Given the description of an element on the screen output the (x, y) to click on. 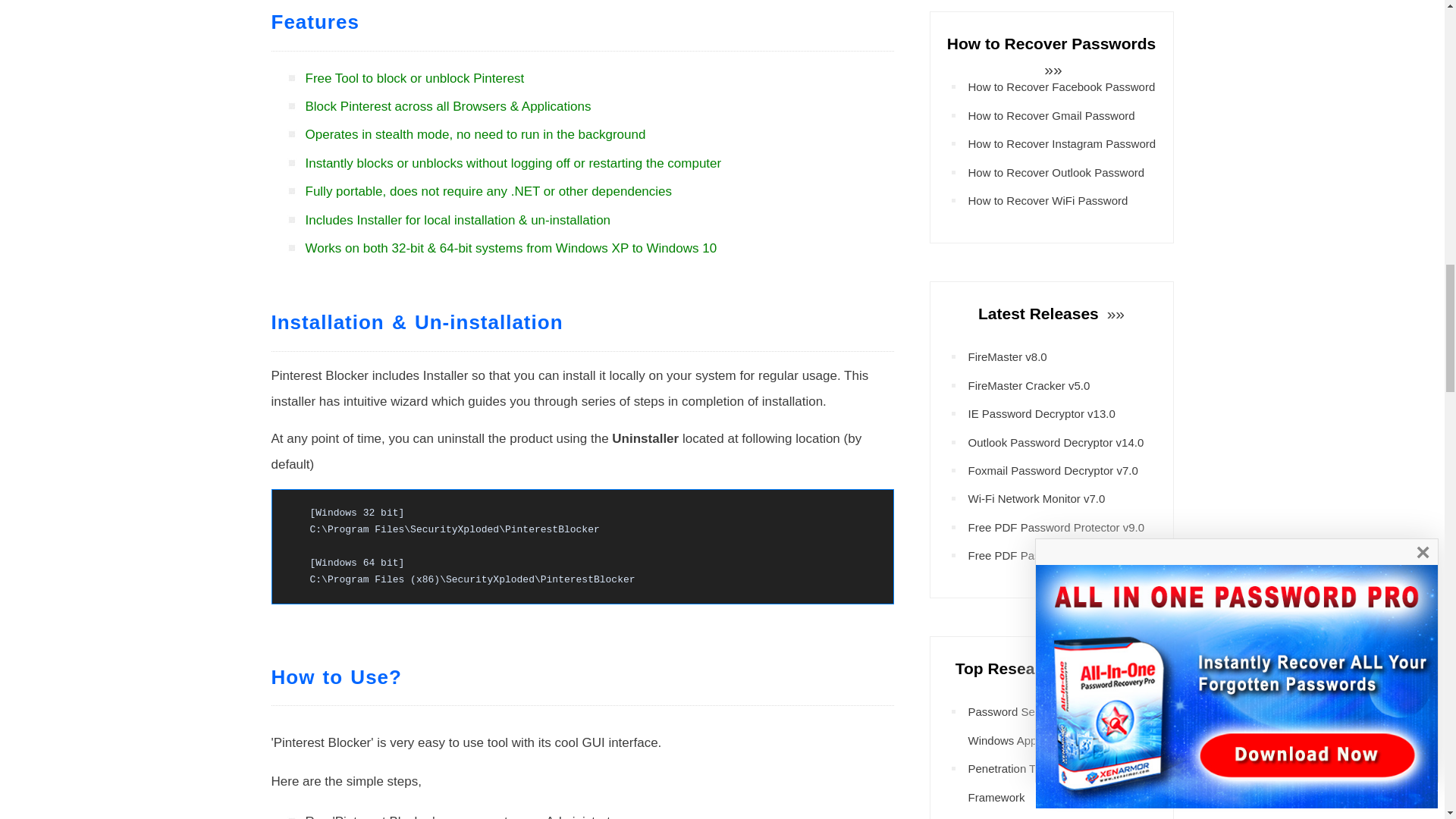
See More... (1113, 313)
See More... (1051, 68)
See More... (1136, 668)
